Given the description of an element on the screen output the (x, y) to click on. 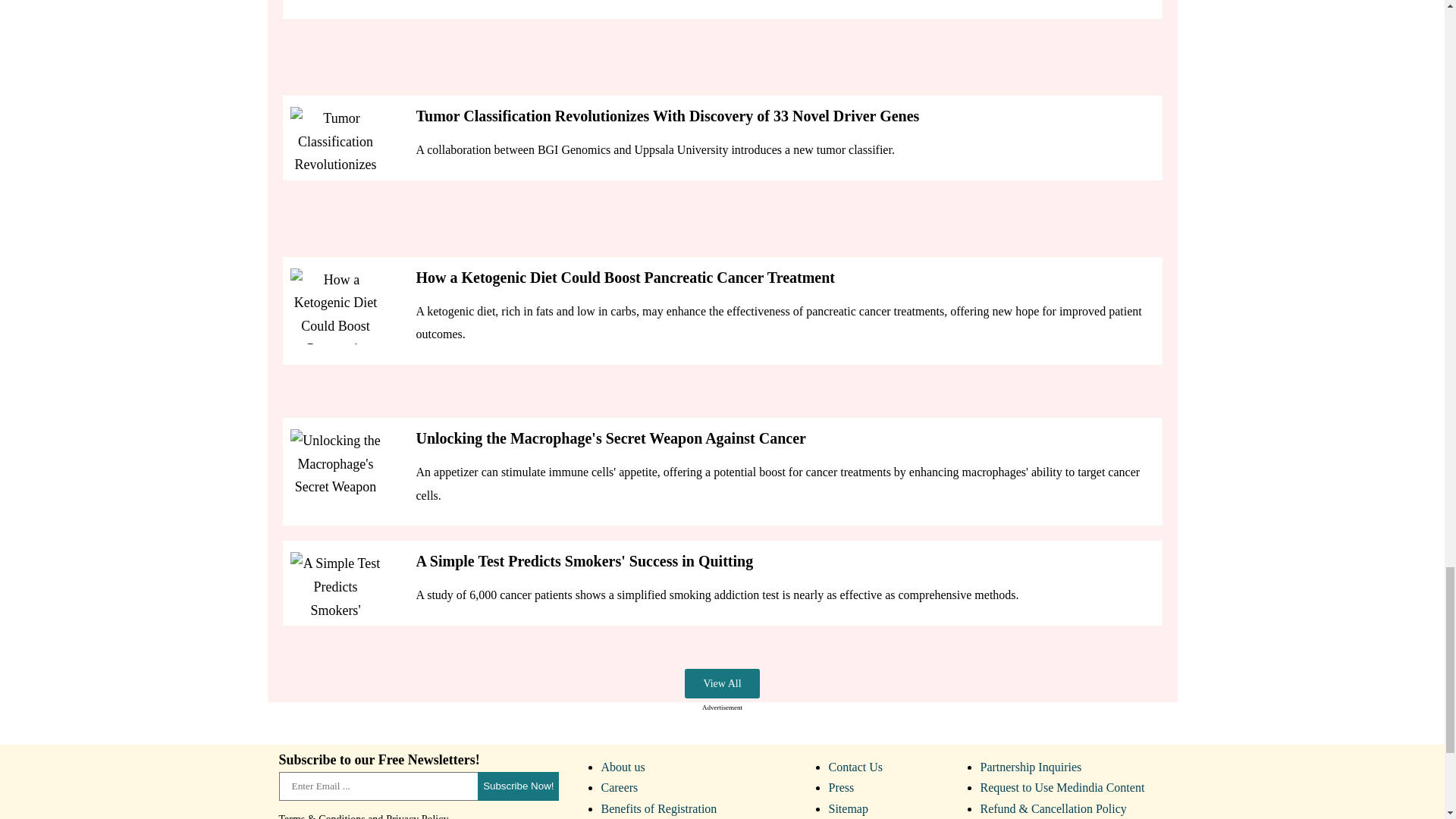
Unlocking the Macrophage's Secret Weapon Against Cancer (334, 467)
How a Ketogenic Diet Could Boost Pancreatic Cancer Treatment (334, 305)
Subscribe Now! (334, 590)
